Given the description of an element on the screen output the (x, y) to click on. 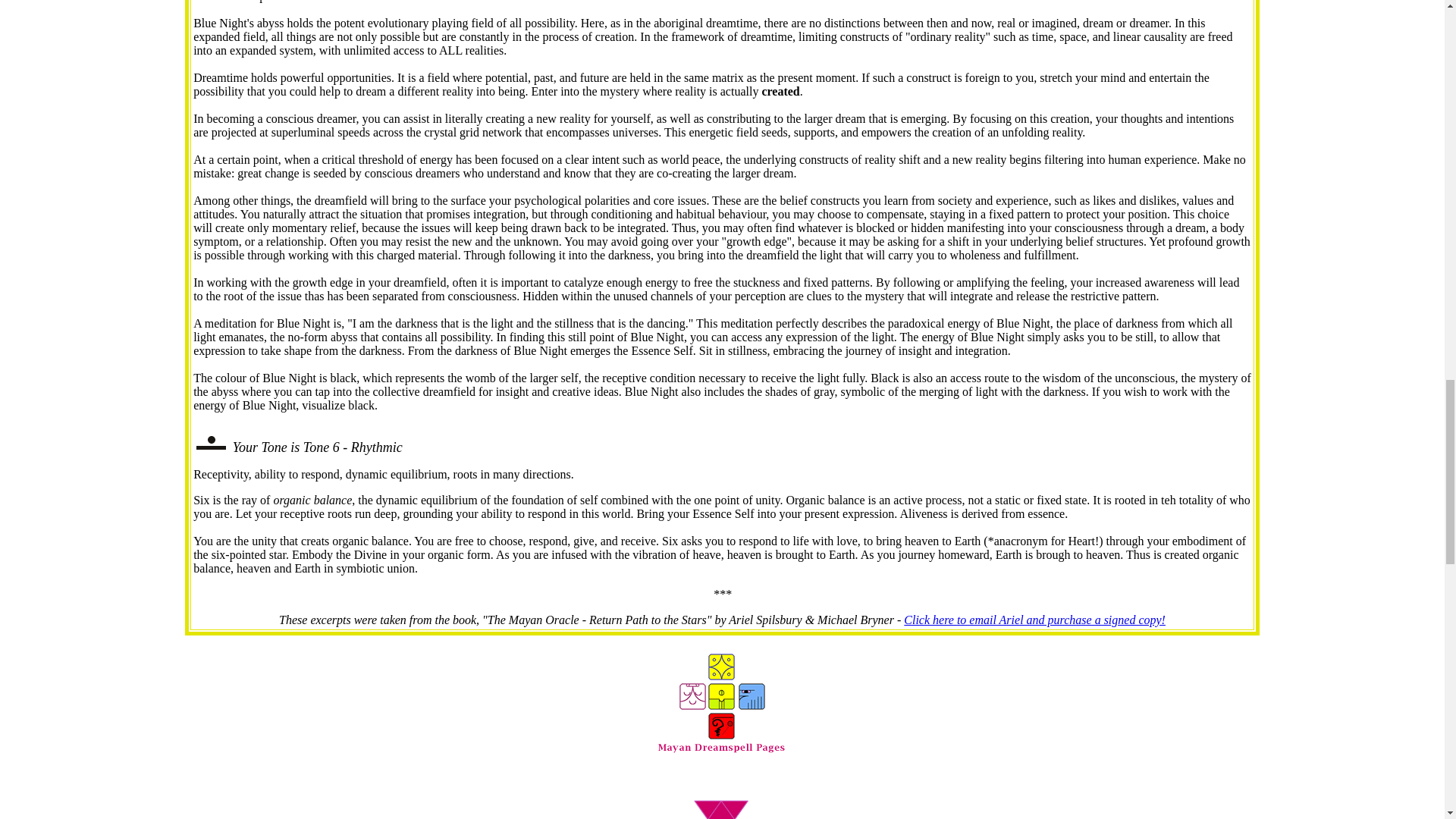
Click here to email Ariel and purchase a signed copy! (1035, 619)
